Given the description of an element on the screen output the (x, y) to click on. 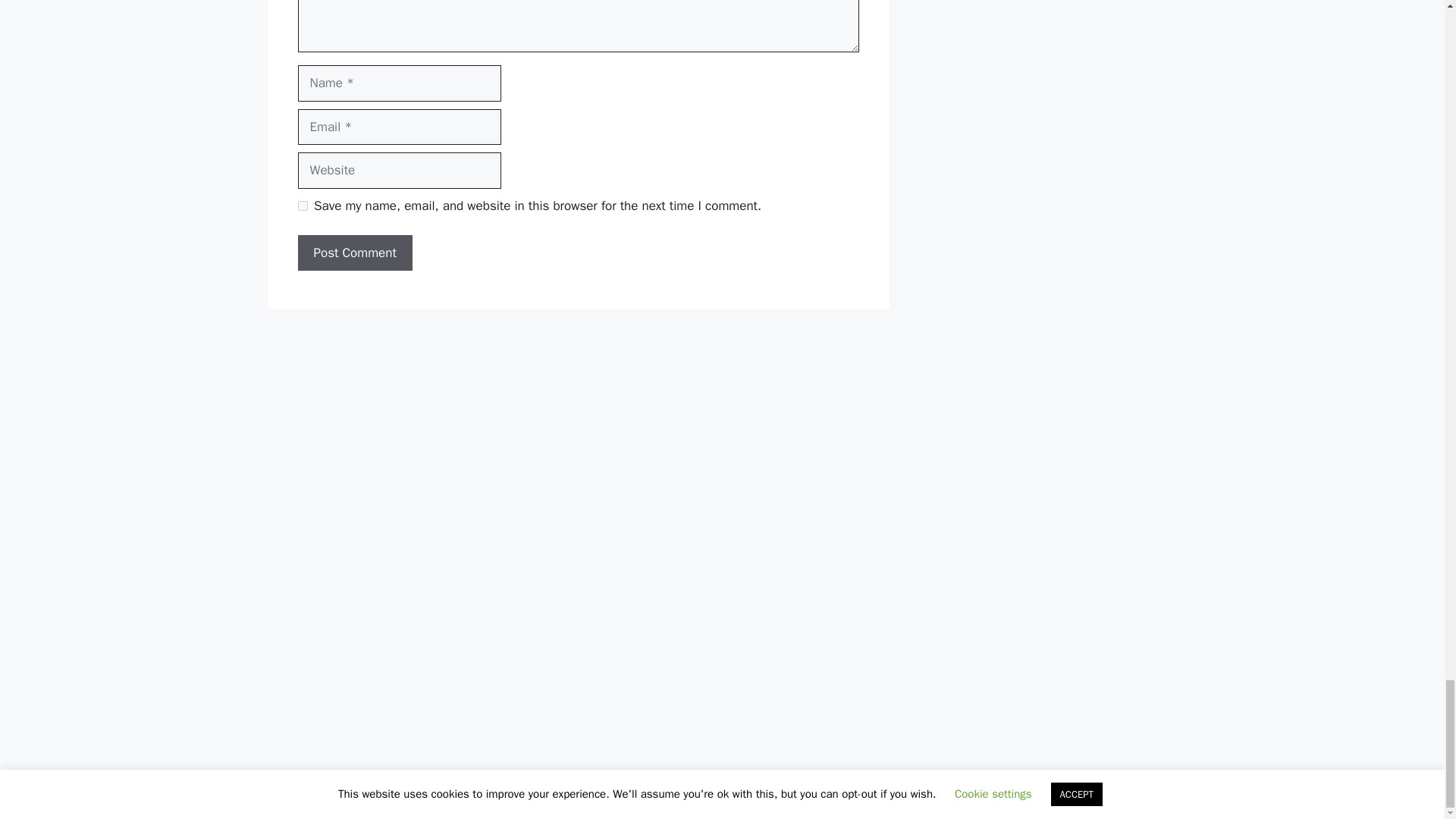
Post Comment (354, 253)
Post Comment (354, 253)
yes (302, 205)
GeneratePress (815, 794)
